Given the description of an element on the screen output the (x, y) to click on. 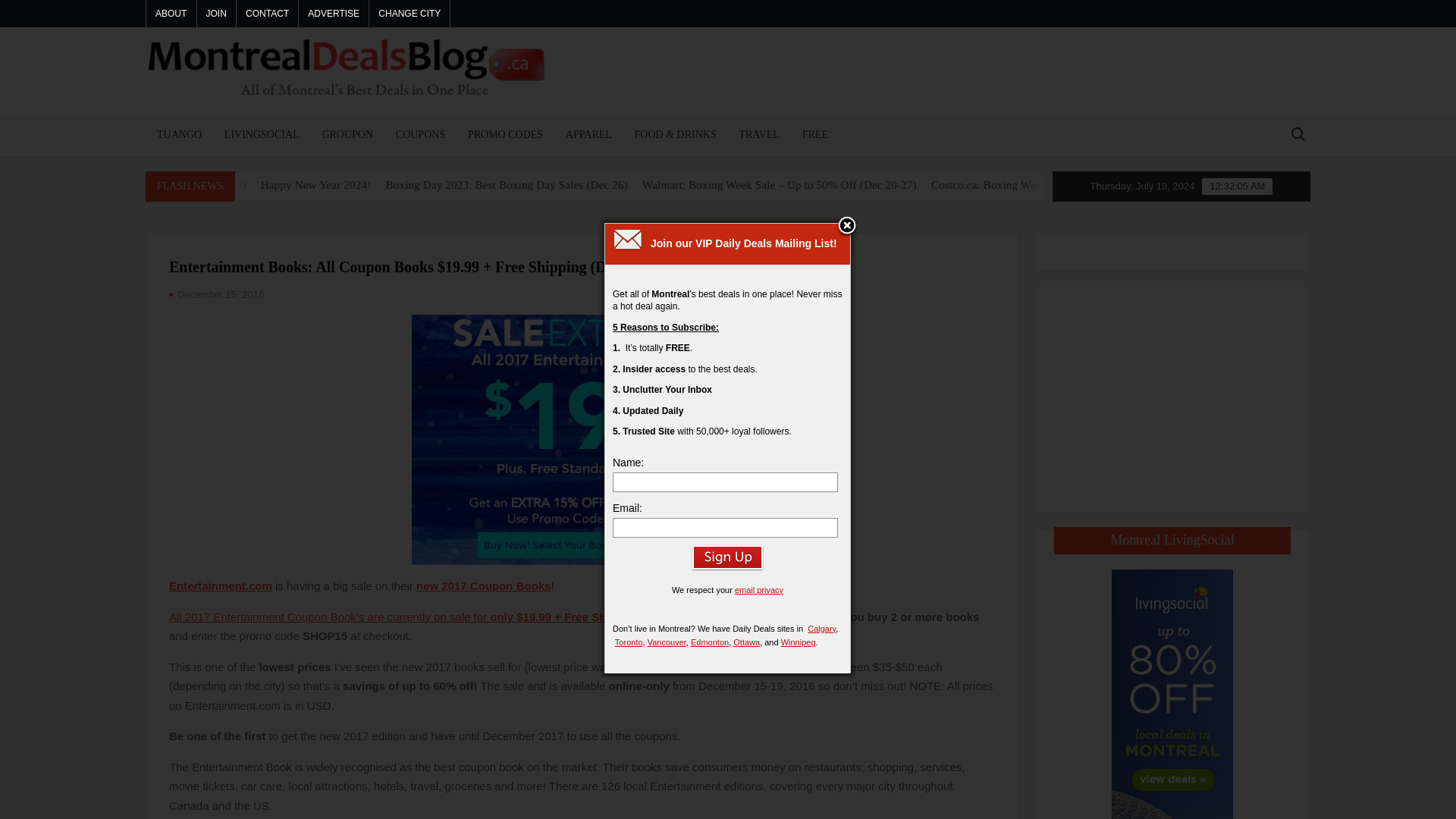
LIVINGSOCIAL (261, 133)
ADVERTISE (333, 13)
CHANGE CITY (409, 13)
APPAREL (588, 133)
Happy New Year 2024! (430, 184)
MONTREAL DEALS BLOG (644, 125)
GROUPON (347, 133)
PROMO CODES (505, 133)
CONTACT (266, 13)
TRAVEL (758, 133)
ABOUT (171, 13)
TUANGO (178, 133)
COUPONS (420, 133)
JOIN (215, 13)
Costco.ca: Boxing Week Savings (1116, 184)
